Given the description of an element on the screen output the (x, y) to click on. 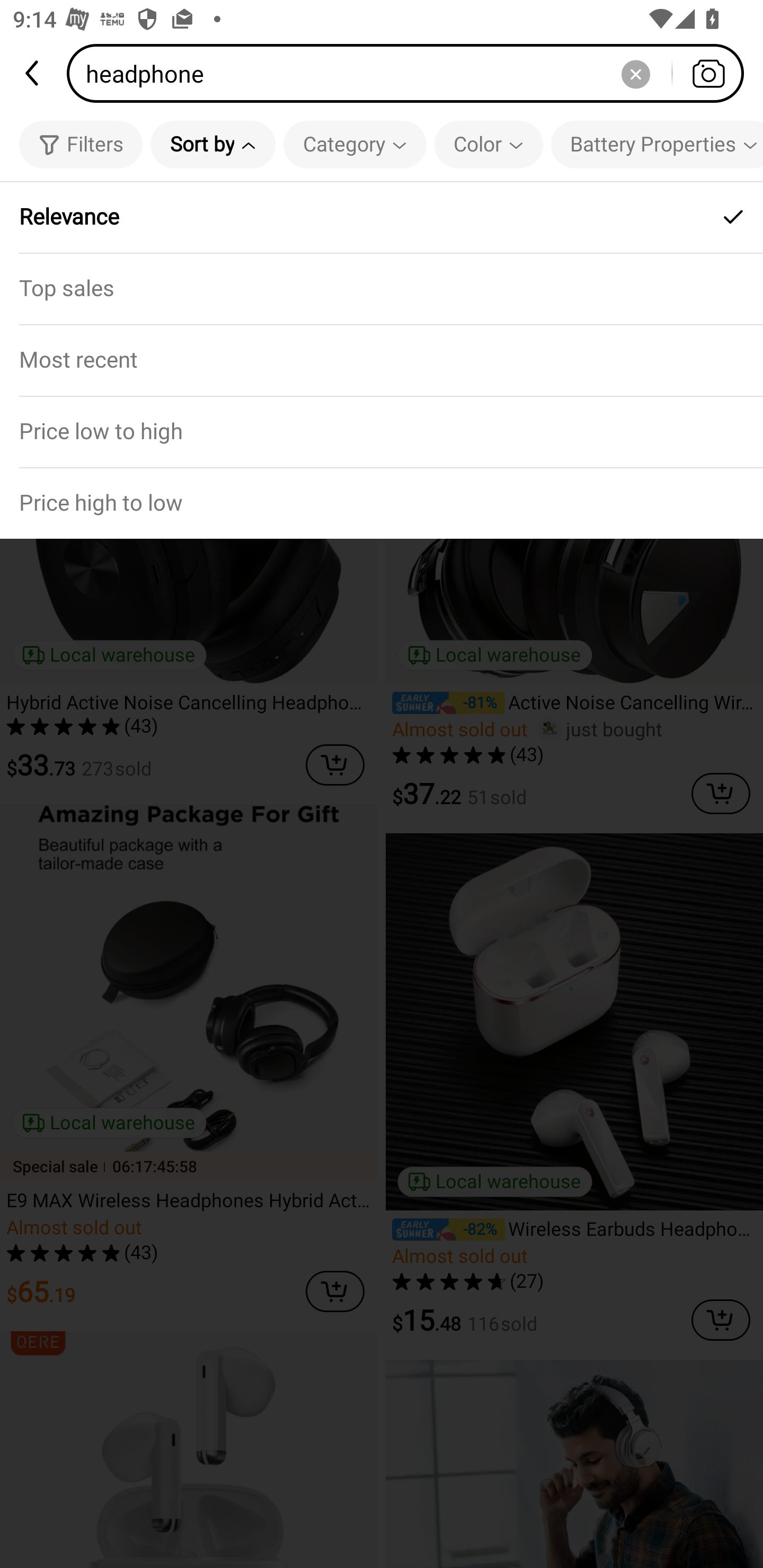
back (33, 72)
headphone (411, 73)
Delete search history (635, 73)
Search by photo (708, 73)
Filters (80, 143)
Sort by (212, 143)
Category (354, 143)
Color (488, 143)
Battery Properties (656, 143)
Relevance (381, 216)
Top sales (381, 288)
Most recent (381, 359)
Price low to high (381, 431)
Price high to low (381, 503)
